Given the description of an element on the screen output the (x, y) to click on. 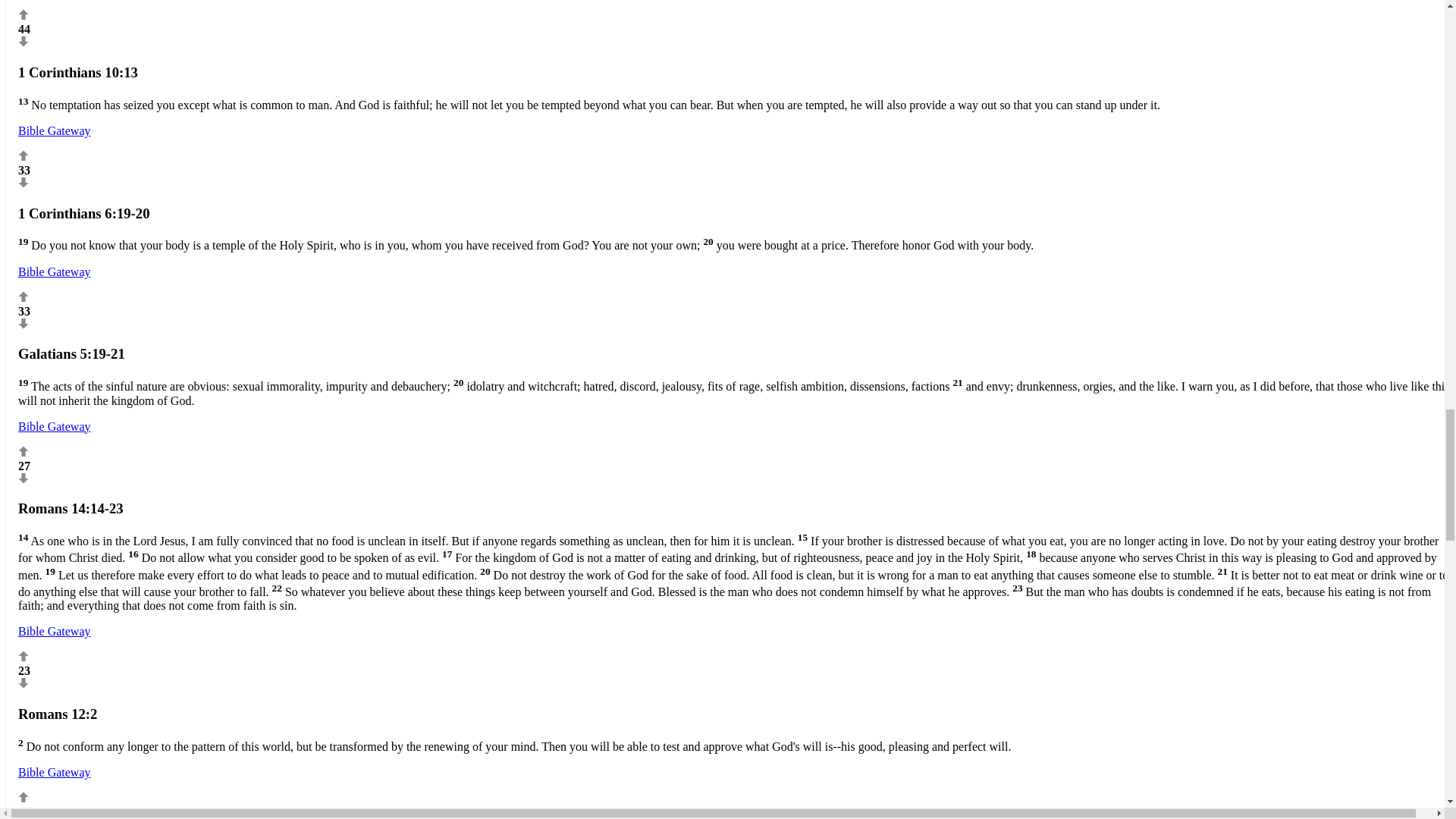
Bible Gateway (53, 426)
Bible Gateway (53, 130)
Bible Gateway (53, 771)
Bible Gateway (53, 631)
Bible Gateway (53, 271)
